Given the description of an element on the screen output the (x, y) to click on. 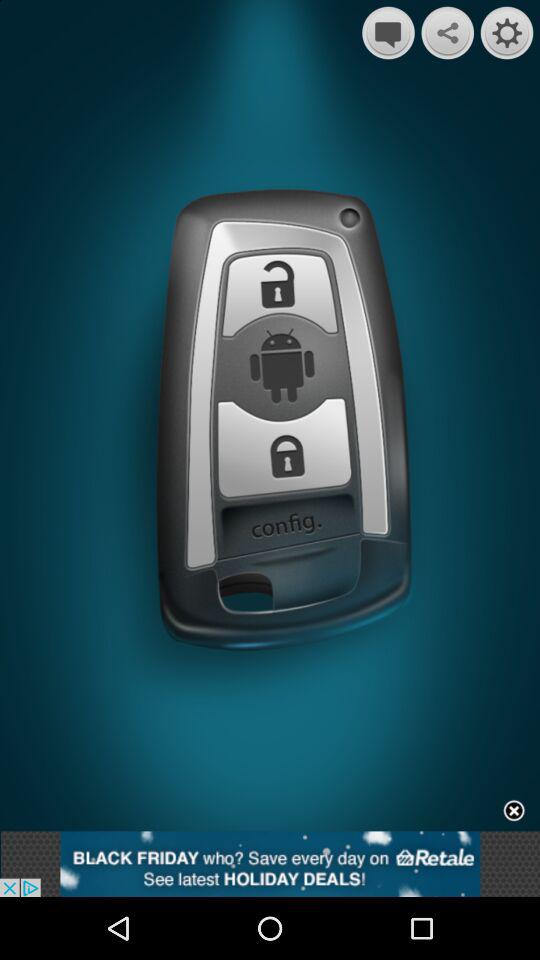
go to setting (506, 32)
